Given the description of an element on the screen output the (x, y) to click on. 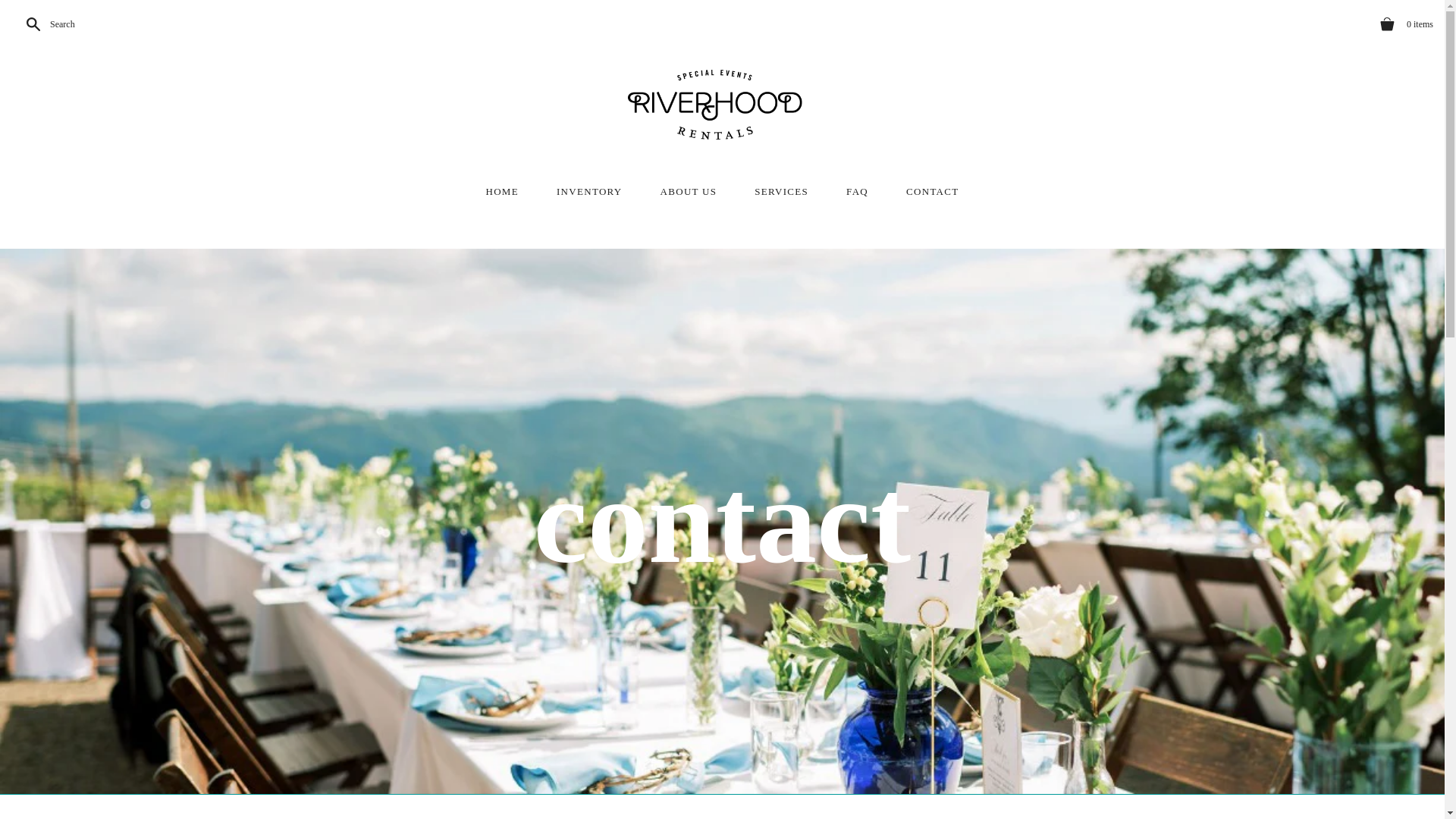
SERVICES (781, 191)
CONTACT (931, 191)
HOME (501, 191)
Search (46, 24)
ABOUT US (689, 191)
FAQ (856, 191)
INVENTORY (589, 191)
